Given the description of an element on the screen output the (x, y) to click on. 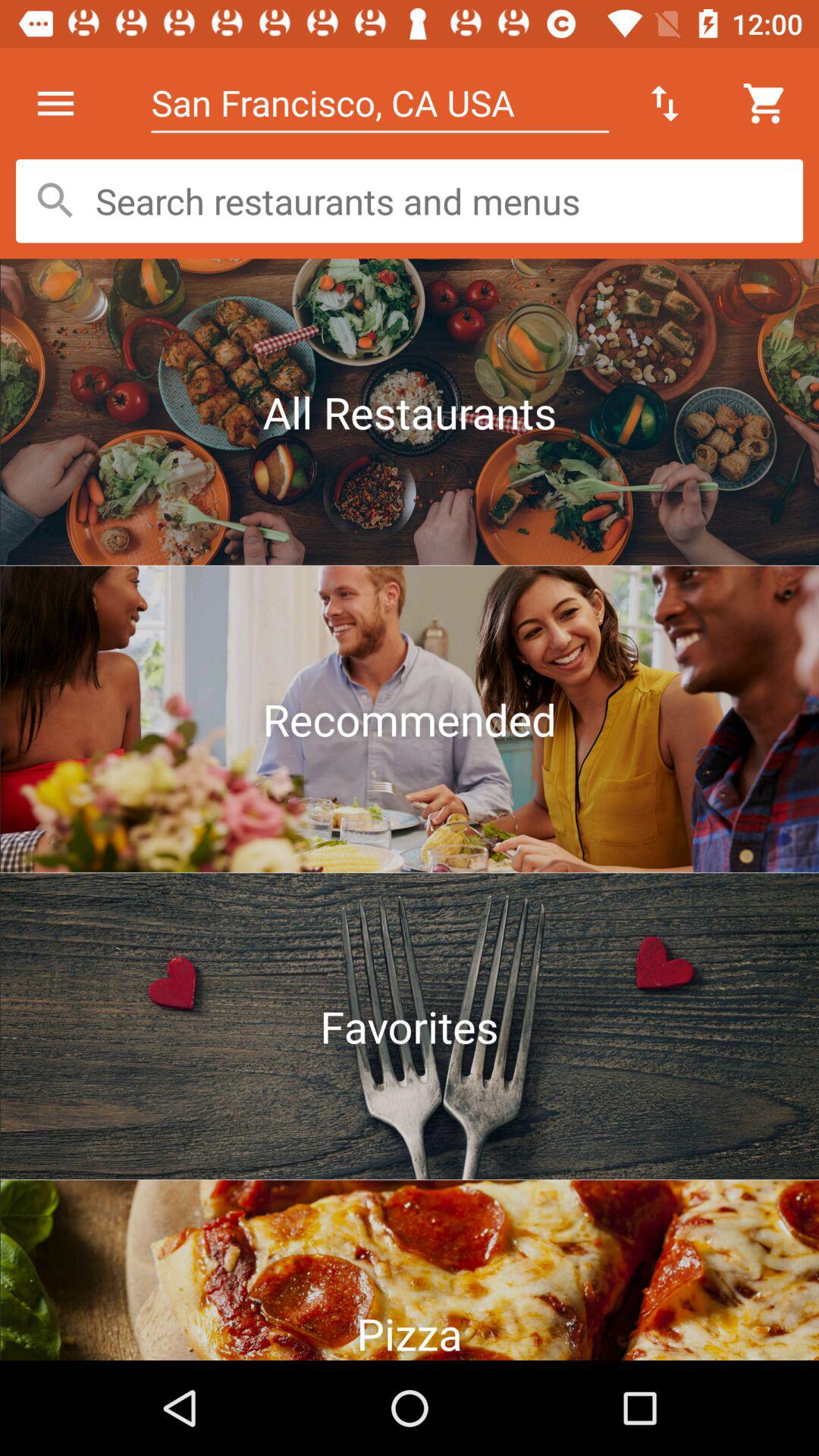
swipe to san francisco ca (380, 103)
